Given the description of an element on the screen output the (x, y) to click on. 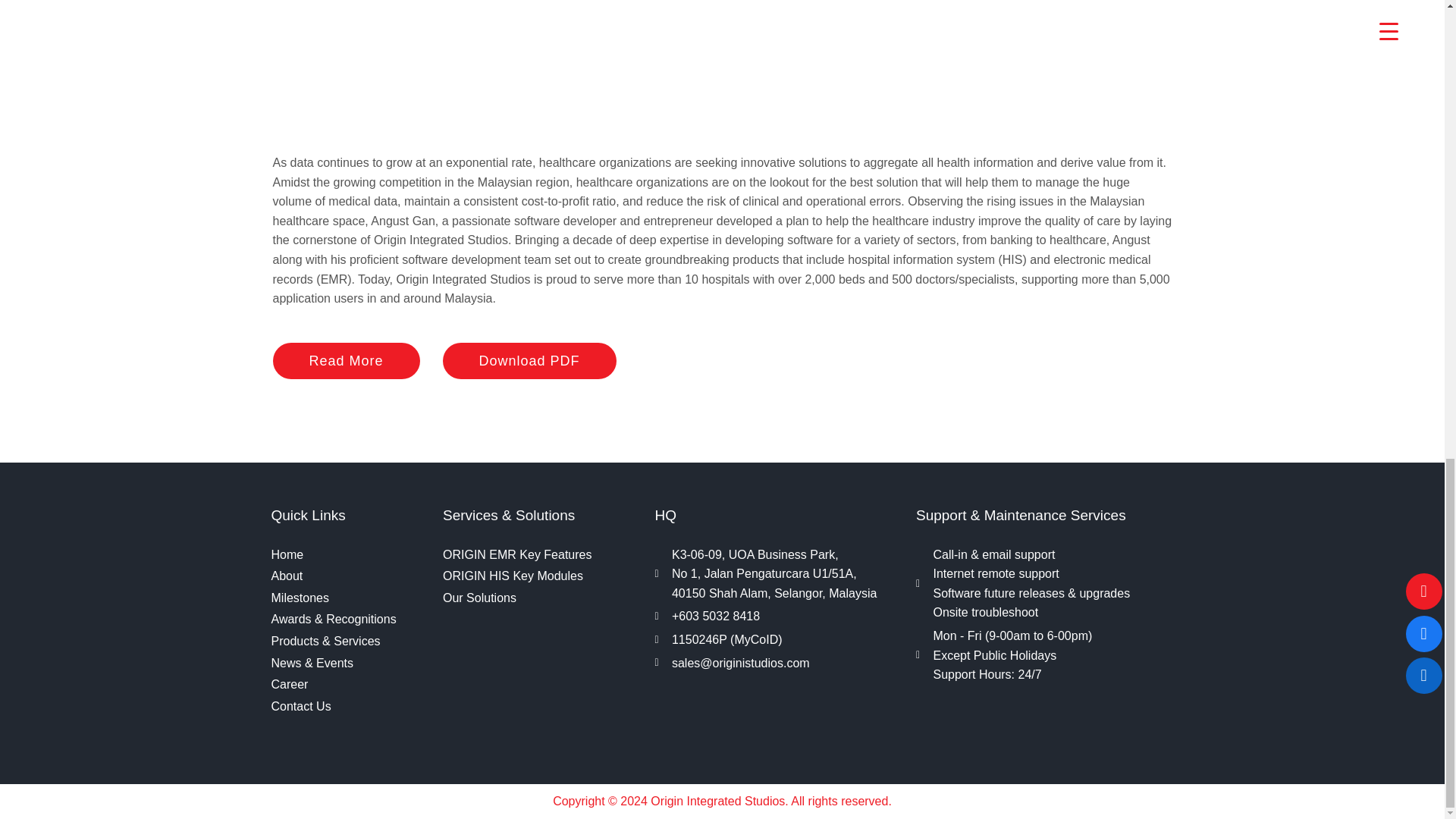
Read More (346, 361)
Contact Us (349, 706)
Career (349, 684)
About (349, 576)
Milestones (349, 598)
Download PDF (528, 361)
Home (349, 555)
